Given the description of an element on the screen output the (x, y) to click on. 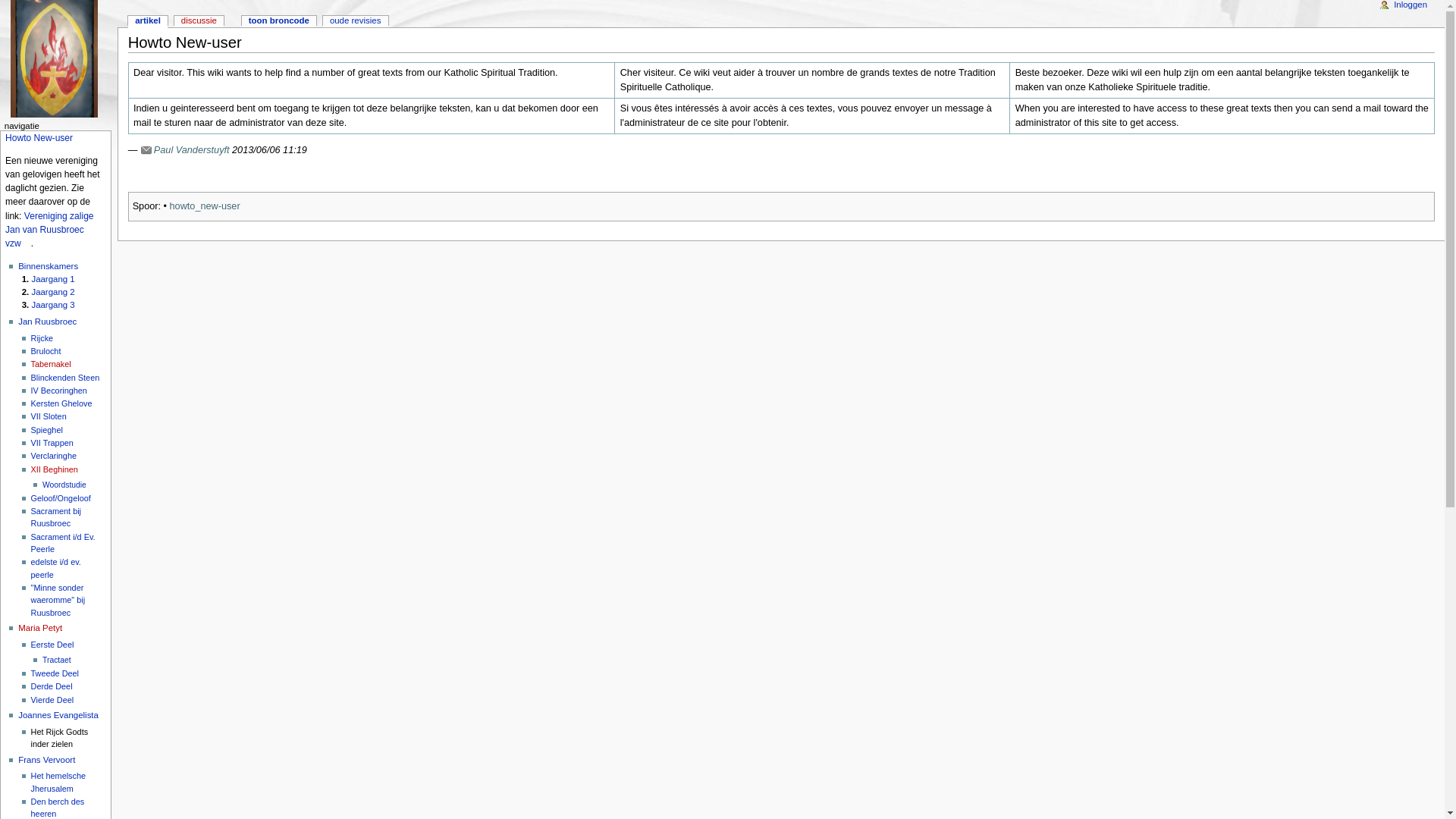
Maria Petyt Element type: text (40, 627)
Jaargang 3 Element type: text (52, 304)
Geloof/Ongeloof Element type: text (65, 497)
Eerste Deel Element type: text (52, 644)
Tabernakel Element type: text (51, 363)
Frans Vervoort Element type: text (46, 759)
Tractaet Element type: text (56, 659)
Tweede Deel Element type: text (54, 672)
Brulocht Element type: text (46, 350)
Rijcke Element type: text (42, 337)
Jan Ruusbroec Element type: text (47, 321)
artikel Element type: text (147, 21)
Spieghel Element type: text (46, 429)
Het hemelsche Jherusalem Element type: text (58, 781)
IV Becoringhen Element type: text (59, 390)
Derde Deel Element type: text (51, 685)
Paul Vanderstuyft Element type: text (184, 149)
"Minne sonder waeromme" bij Ruusbroec Element type: text (58, 600)
Sacrament i/d Ev. Peerle Element type: text (63, 542)
XII Beghinen Element type: text (54, 468)
VII Sloten Element type: text (48, 415)
Kersten Ghelove Element type: text (61, 402)
VII Trappen Element type: text (52, 442)
Binnenskamers Element type: text (48, 265)
discussie Element type: text (198, 21)
Howto New-user Element type: text (38, 137)
Inloggen Element type: text (1410, 5)
howto_new-user Element type: text (204, 205)
toon broncode Element type: text (278, 21)
Verclaringhe Element type: text (53, 455)
oude revisies Element type: text (355, 21)
Vereniging zalige Jan van Ruusbroec vzw Element type: text (49, 229)
Jaargang 2 Element type: text (52, 291)
edelste i/d ev. peerle Element type: text (56, 567)
Den berch des heeren Element type: text (57, 807)
Woordstudie Element type: text (64, 484)
Blinckenden Steen Element type: text (65, 377)
Vierde Deel Element type: text (52, 698)
Jaargang 1 Element type: text (52, 278)
Sacrament bij Ruusbroec Element type: text (56, 516)
Joannes Evangelista Element type: text (58, 714)
[ALT+H] Element type: hover (58, 58)
